Given the description of an element on the screen output the (x, y) to click on. 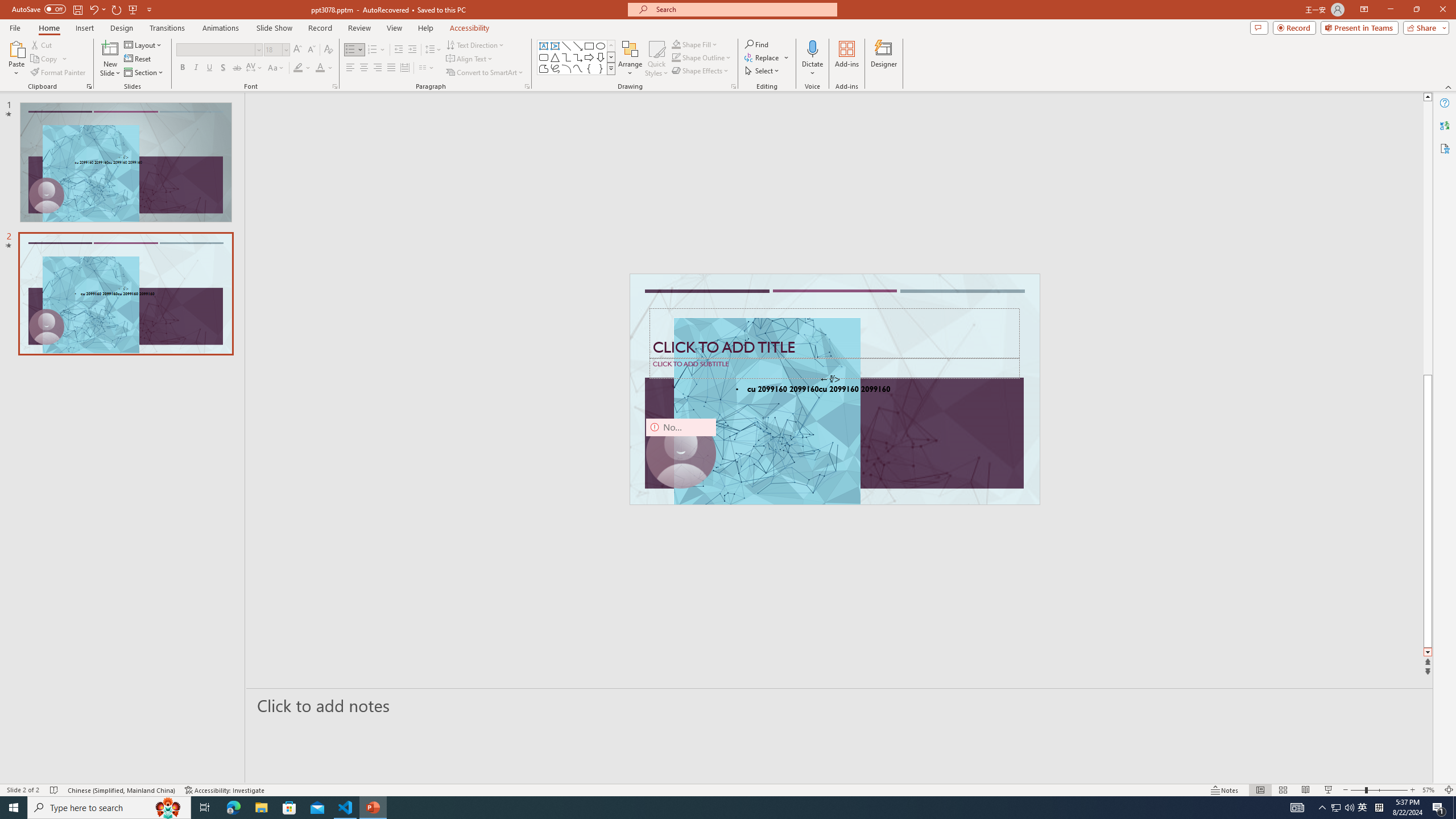
An abstract genetic concept (834, 389)
